Given the description of an element on the screen output the (x, y) to click on. 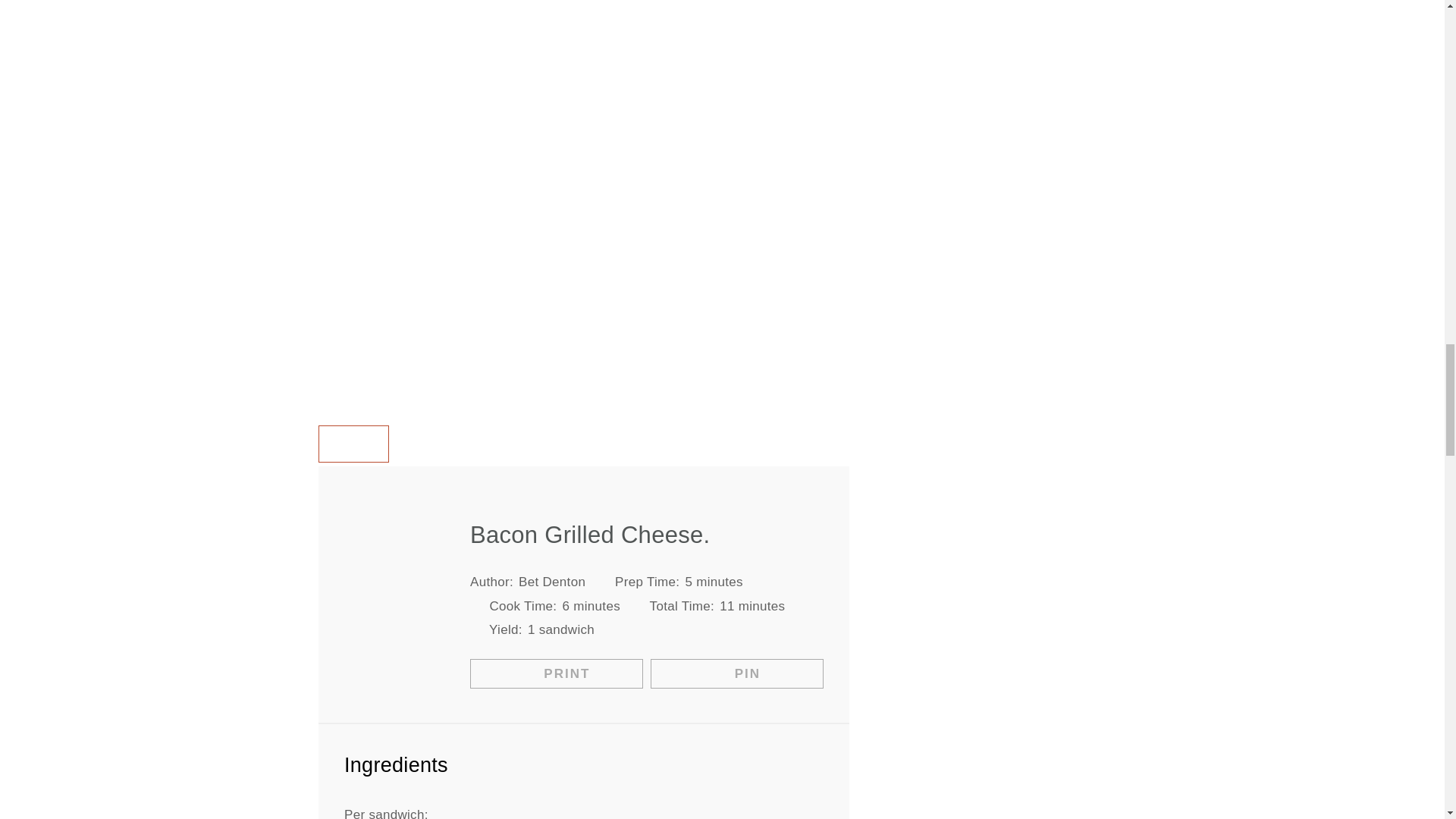
PIN (737, 673)
PRINT (556, 673)
PRINT (353, 443)
